Given the description of an element on the screen output the (x, y) to click on. 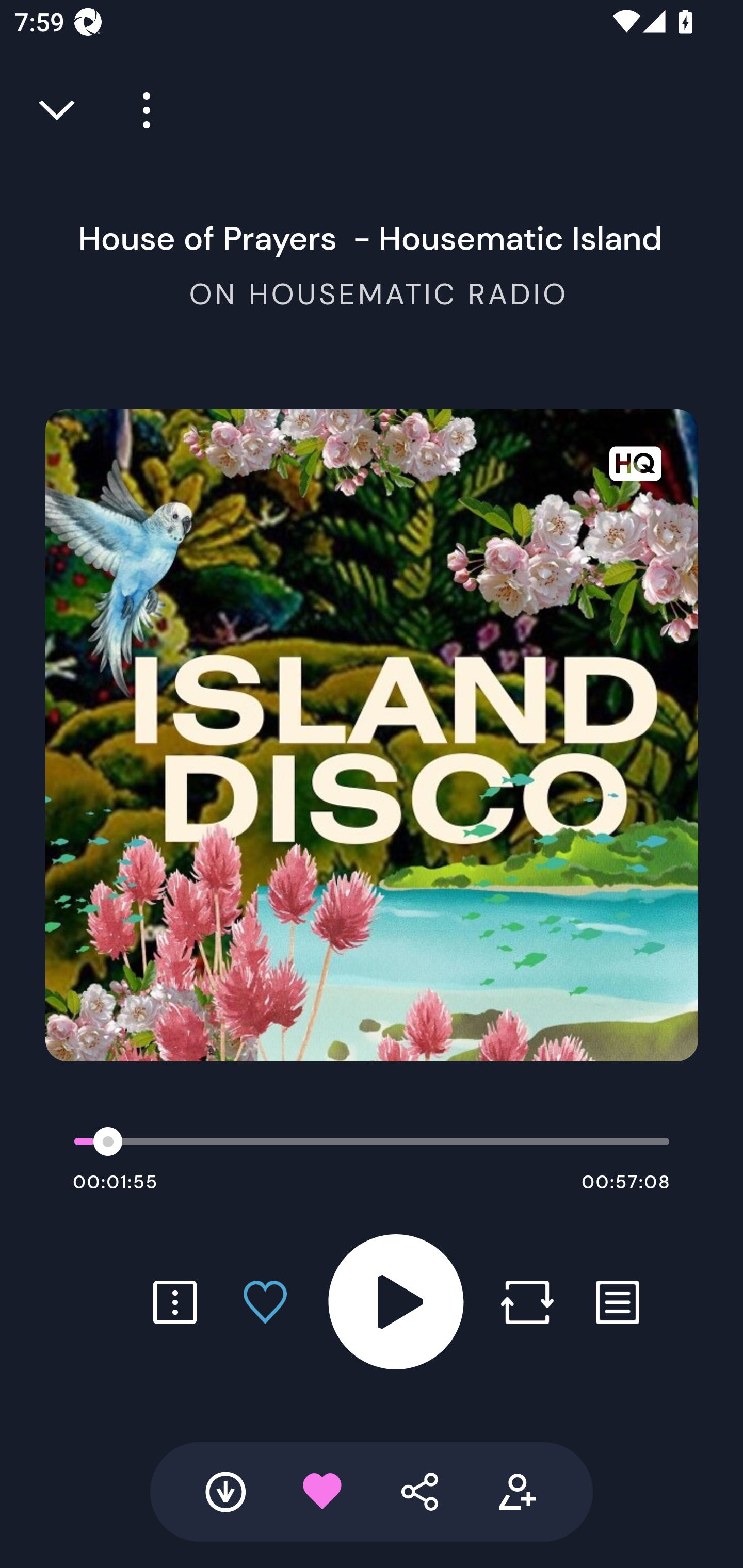
Close full player (58, 110)
Player more options button (139, 110)
Repost button (527, 1301)
